Given the description of an element on the screen output the (x, y) to click on. 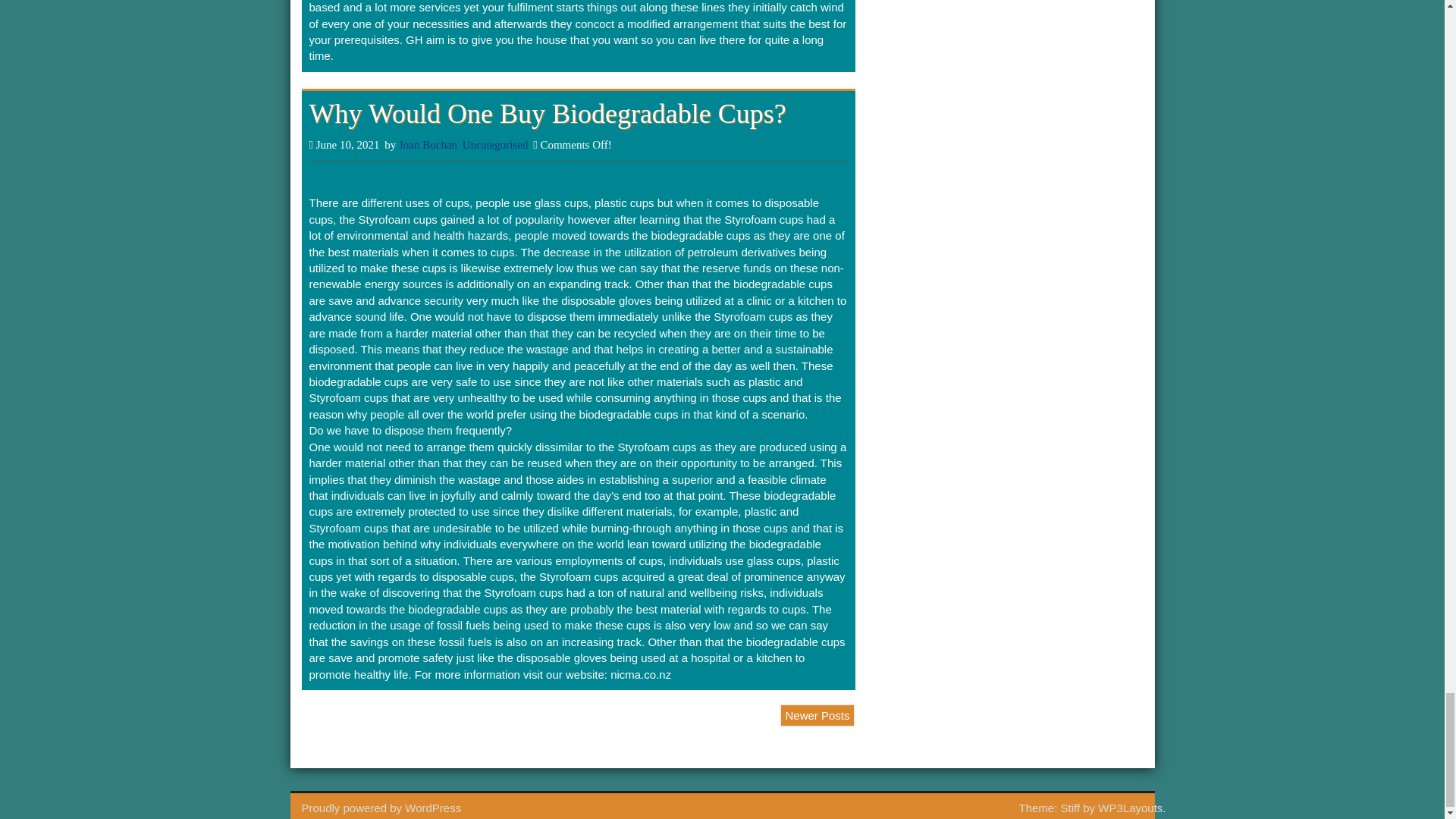
Why Would One Buy Biodegradable Cups? (547, 113)
Uncategorised (495, 144)
Joan Buchan (427, 144)
